Given the description of an element on the screen output the (x, y) to click on. 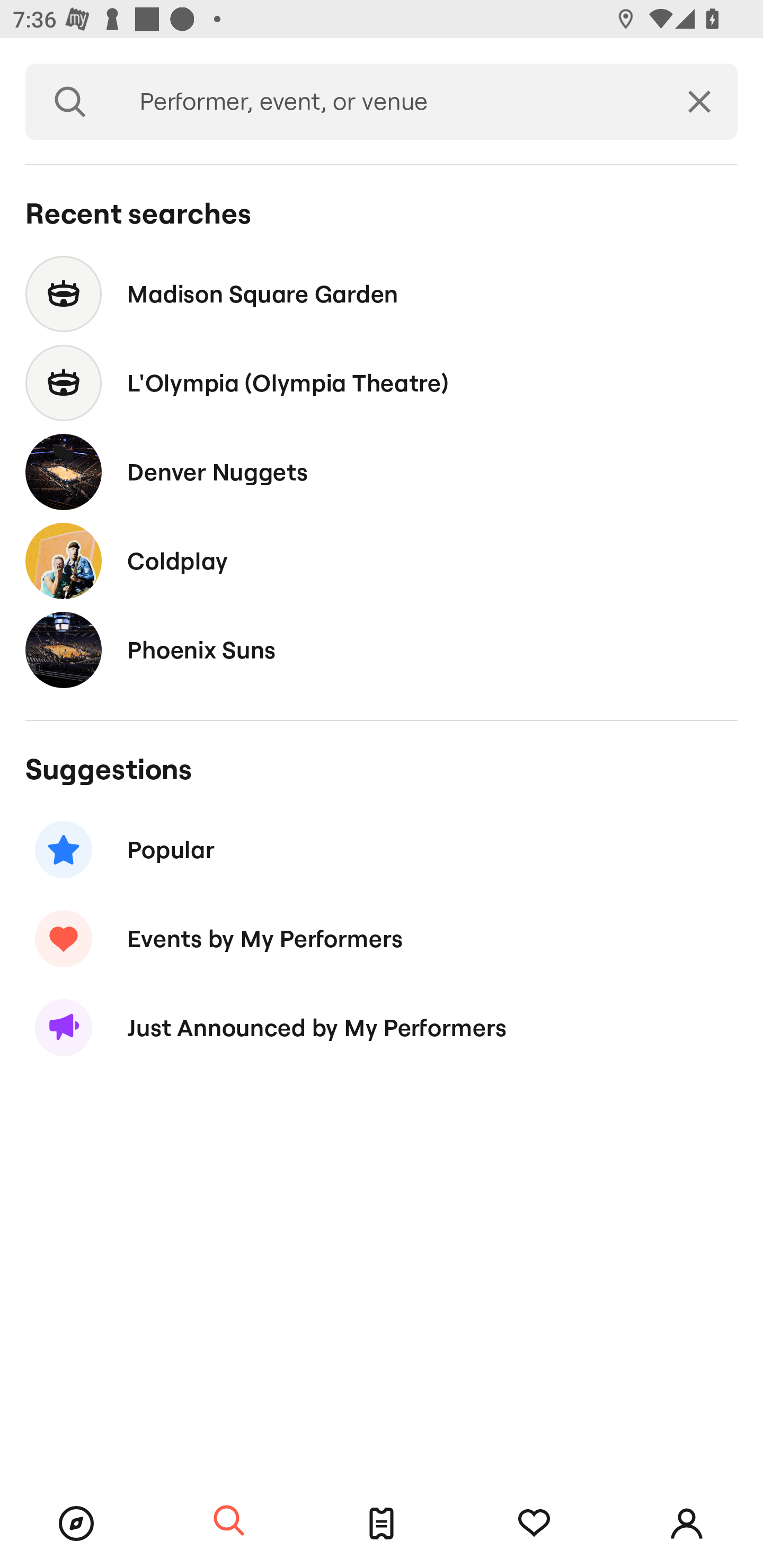
Search (69, 101)
Performer, event, or venue (387, 101)
Clear (699, 101)
Madison Square Garden (381, 293)
L'Olympia (Olympia Theatre) (381, 383)
Denver Nuggets (381, 471)
Coldplay (381, 560)
Phoenix Suns (381, 649)
Popular (381, 849)
Events by My Performers (381, 938)
Just Announced by My Performers (381, 1027)
Browse (76, 1523)
Search (228, 1521)
Tickets (381, 1523)
Tracking (533, 1523)
Account (686, 1523)
